Given the description of an element on the screen output the (x, y) to click on. 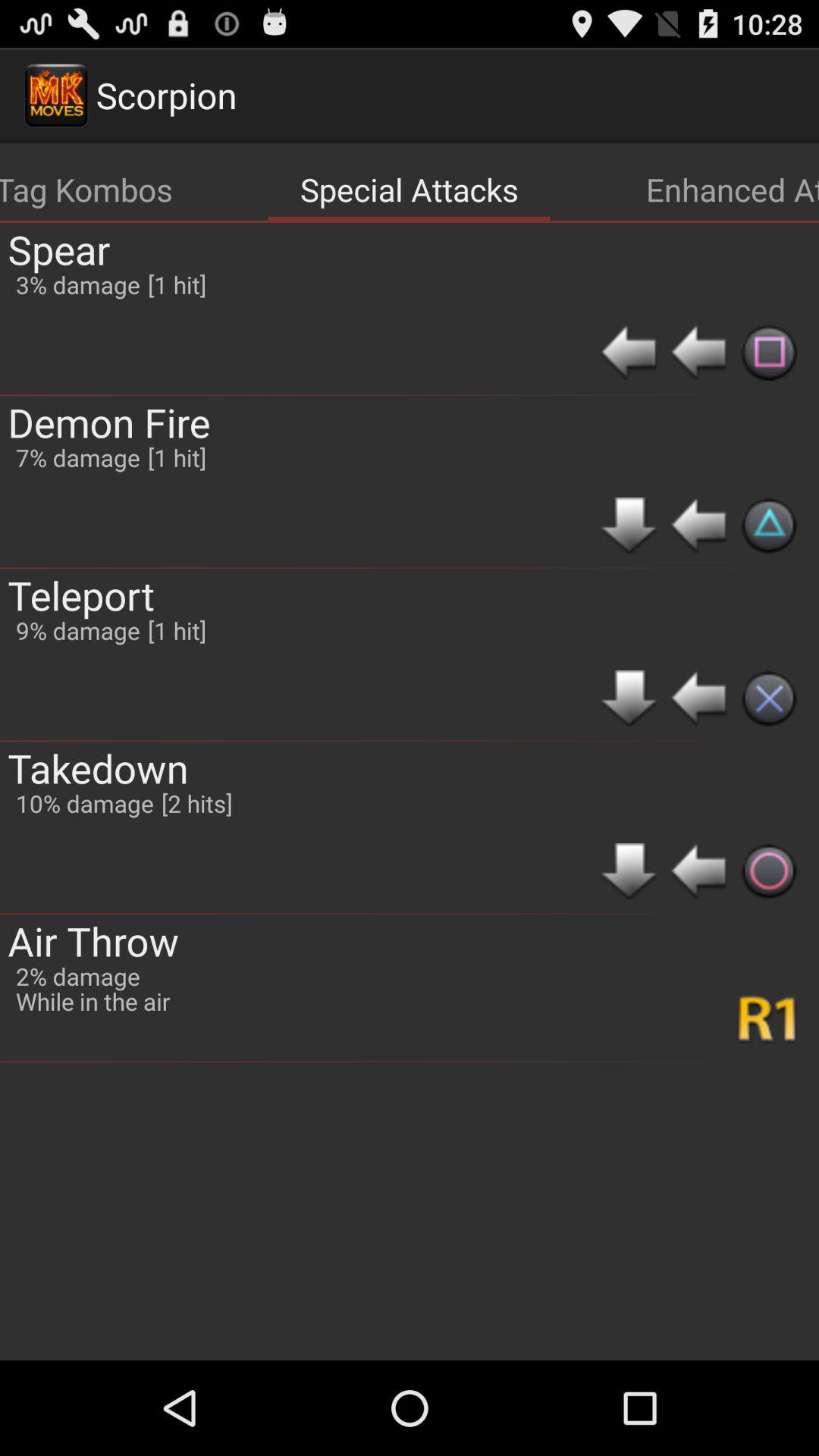
click icon below tag kombos icon (58, 248)
